Given the description of an element on the screen output the (x, y) to click on. 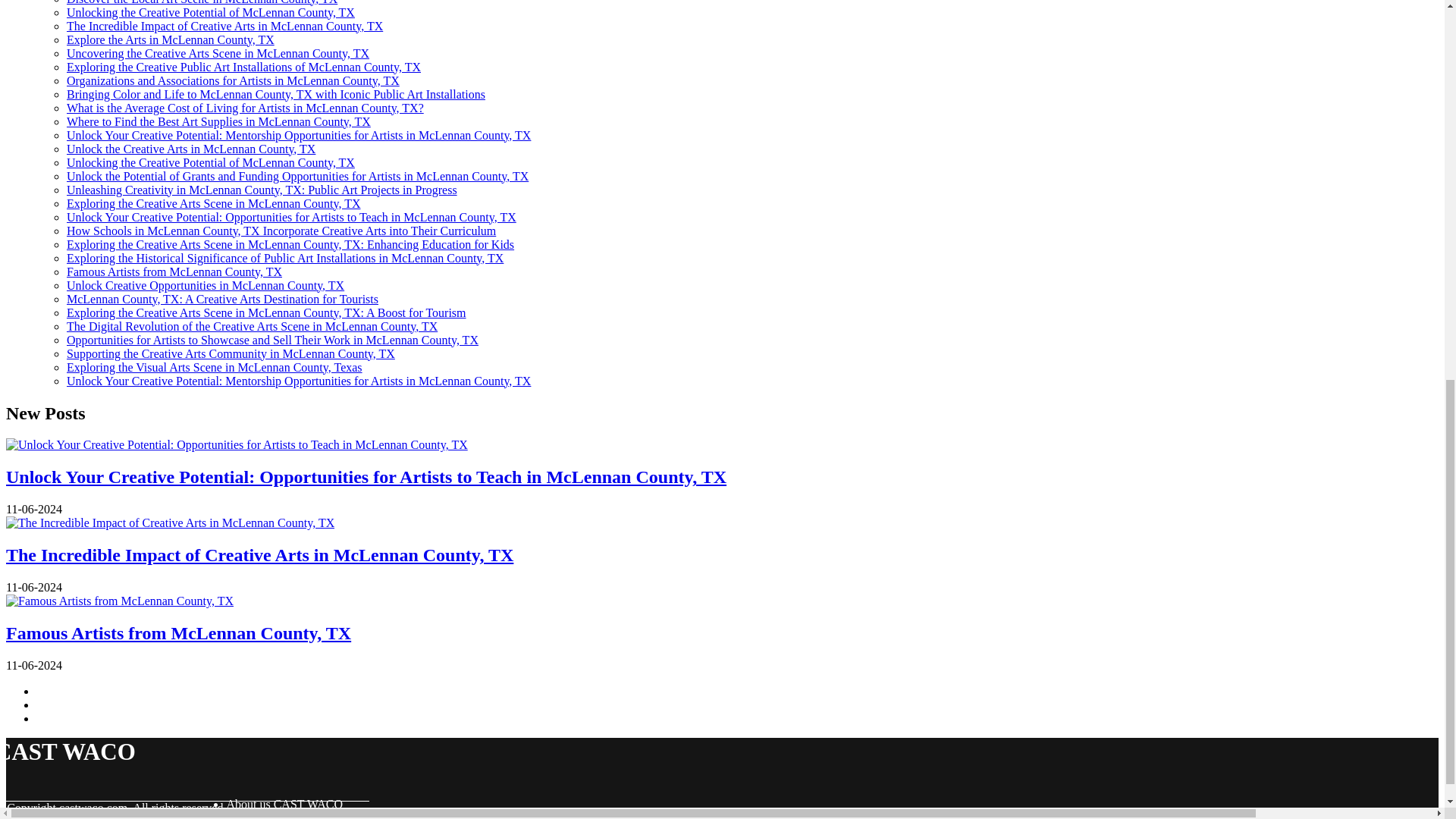
Unlocking the Creative Potential of McLennan County, TX (210, 162)
Unlocking the Creative Potential of McLennan County, TX (210, 11)
Explore the Arts in McLennan County, TX (170, 39)
